Given the description of an element on the screen output the (x, y) to click on. 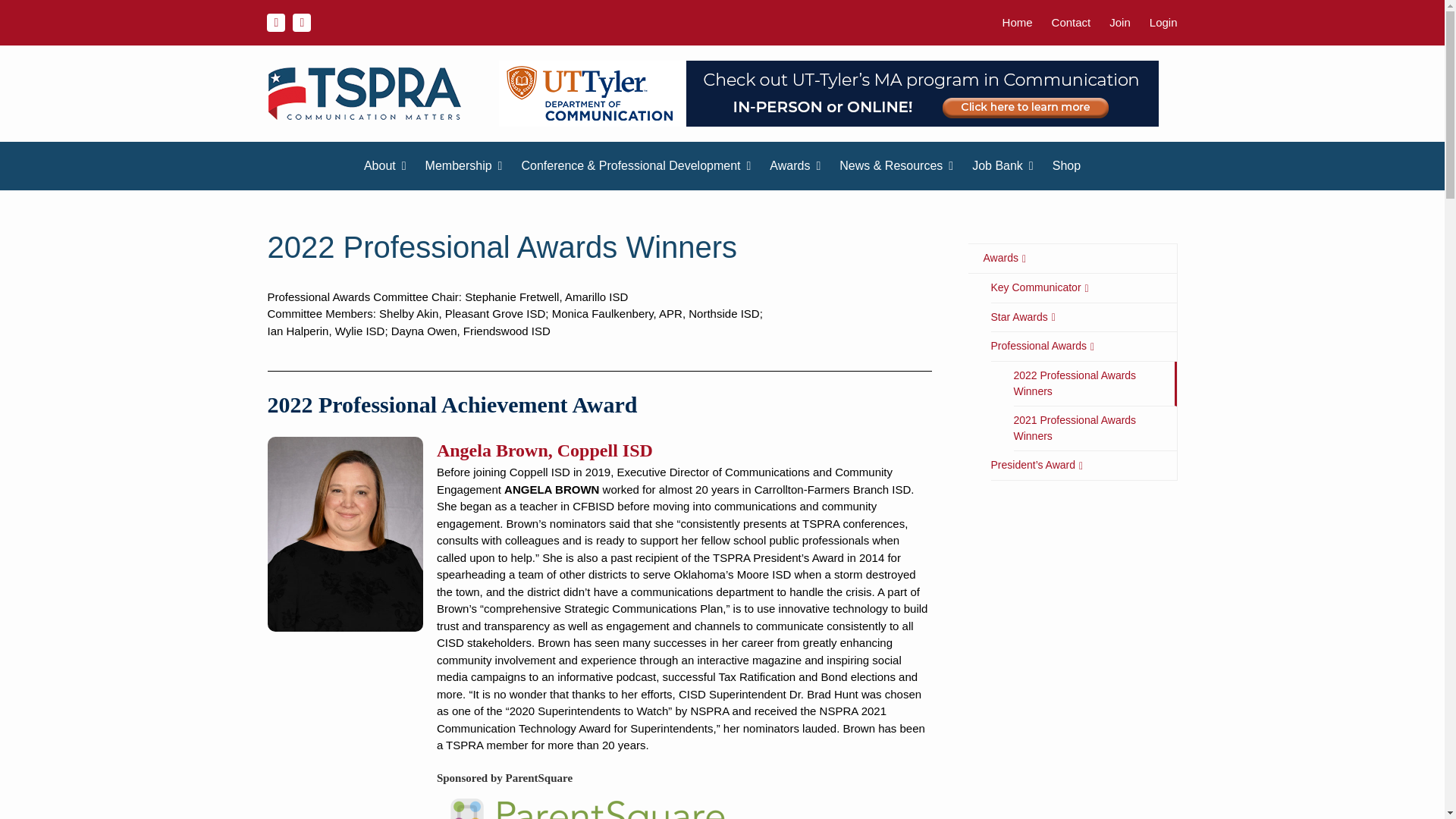
Parentsquare (587, 802)
